Given the description of an element on the screen output the (x, y) to click on. 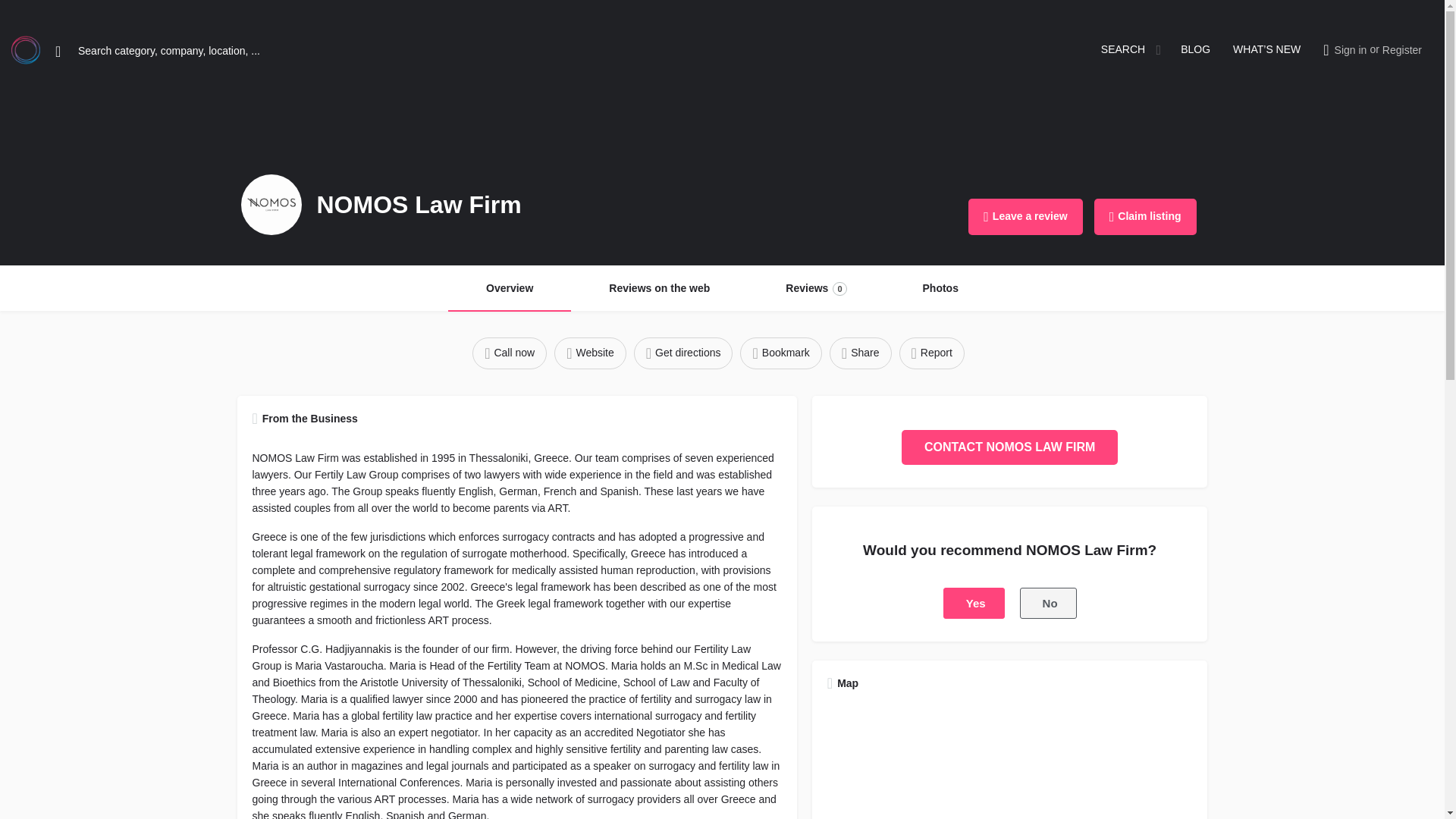
Claim listing (1145, 217)
Leave a review (815, 289)
Yes (1024, 217)
BLOG (973, 603)
Photos (1194, 49)
Reviews on the web (940, 289)
NOMOS Law Firm (659, 289)
Sign in (271, 204)
Overview (1351, 49)
Call now (509, 289)
Share (509, 353)
No (860, 353)
Website (1048, 603)
Report (590, 353)
